Given the description of an element on the screen output the (x, y) to click on. 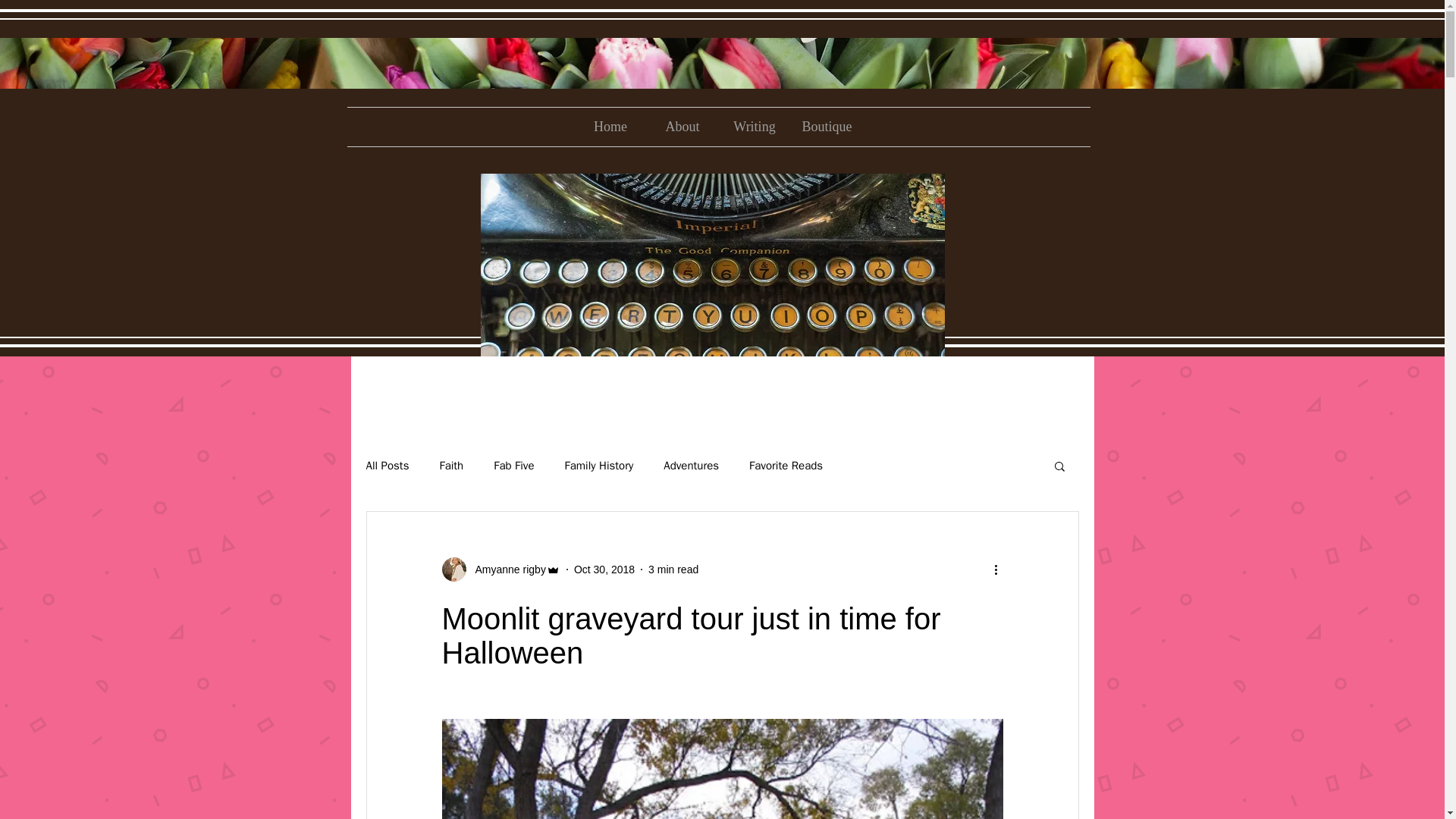
Faith (451, 464)
About (681, 126)
Amyanne rigby (504, 569)
3 min read (672, 568)
All Posts (387, 464)
Family History (598, 464)
Boutique (825, 126)
Fab Five (513, 464)
Writing (754, 126)
Adventures (691, 464)
